Given the description of an element on the screen output the (x, y) to click on. 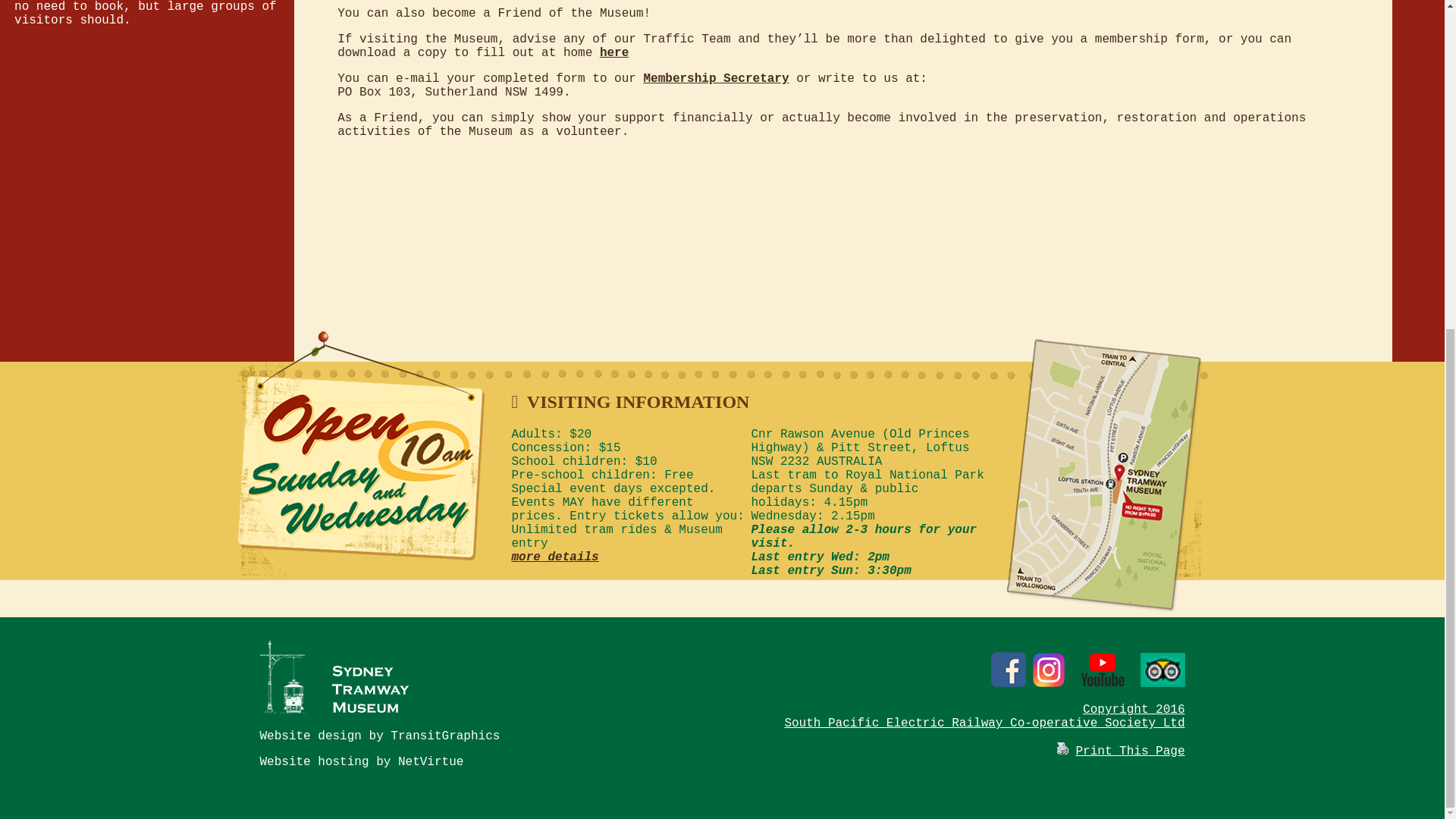
Print This Page (1062, 748)
Print This Page (1130, 751)
